Given the description of an element on the screen output the (x, y) to click on. 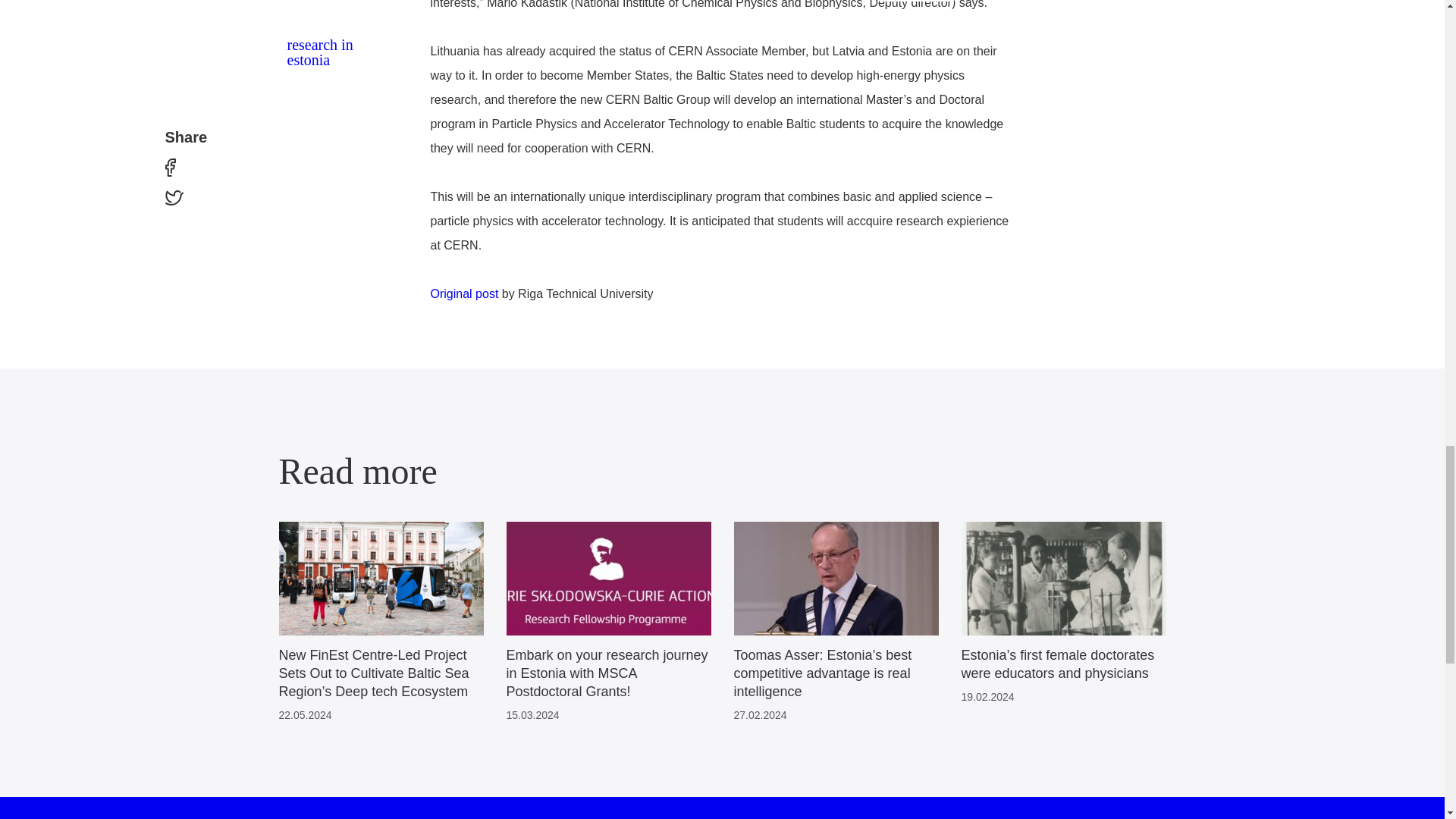
Original post (464, 293)
